Given the description of an element on the screen output the (x, y) to click on. 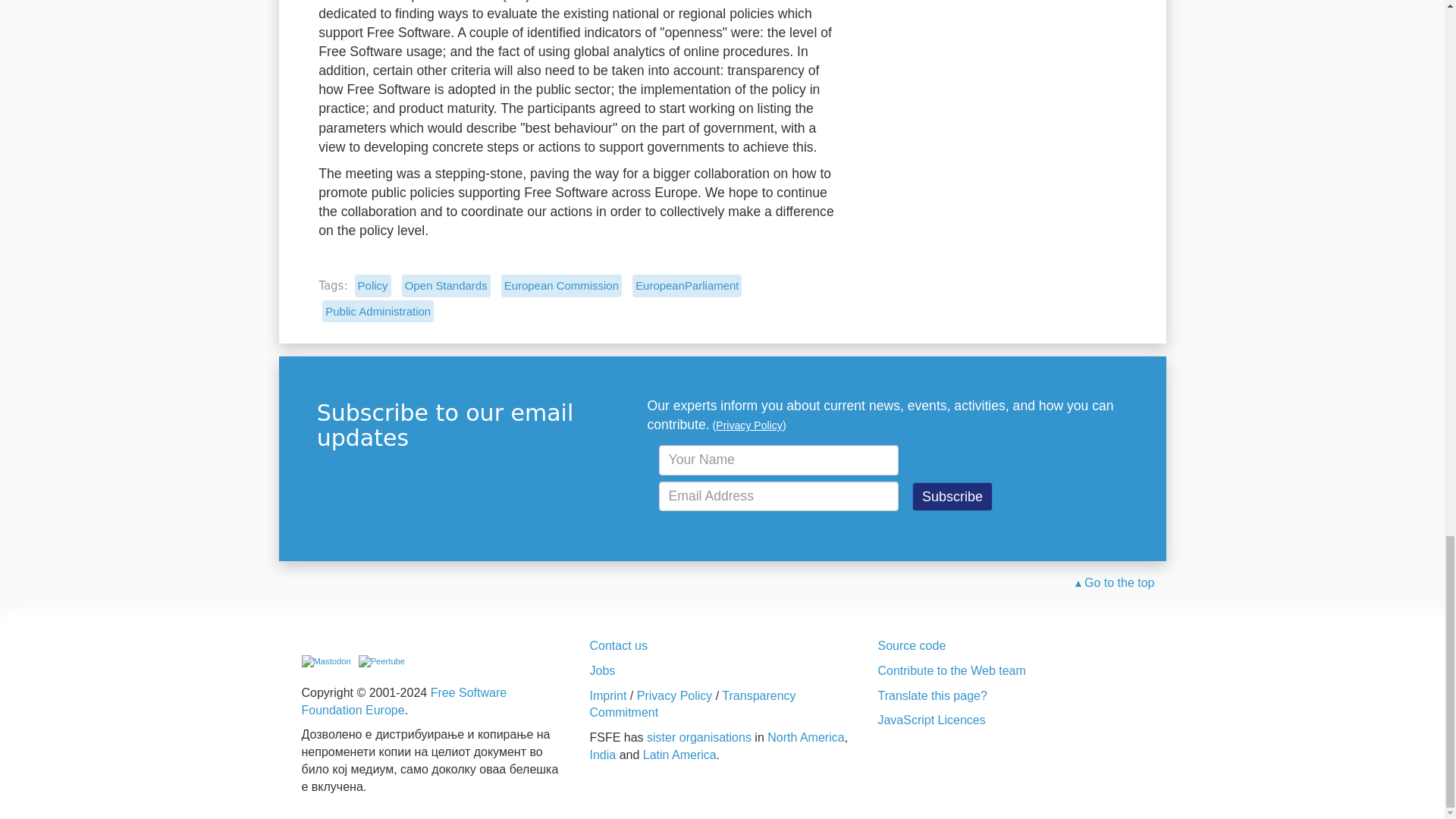
Public Administration (377, 311)
Peertube (381, 661)
Subscribe (952, 496)
Mastodon (325, 661)
European Commission (560, 285)
EuropeanParliament (686, 285)
Policy (373, 285)
Open Standards (445, 285)
